Given the description of an element on the screen output the (x, y) to click on. 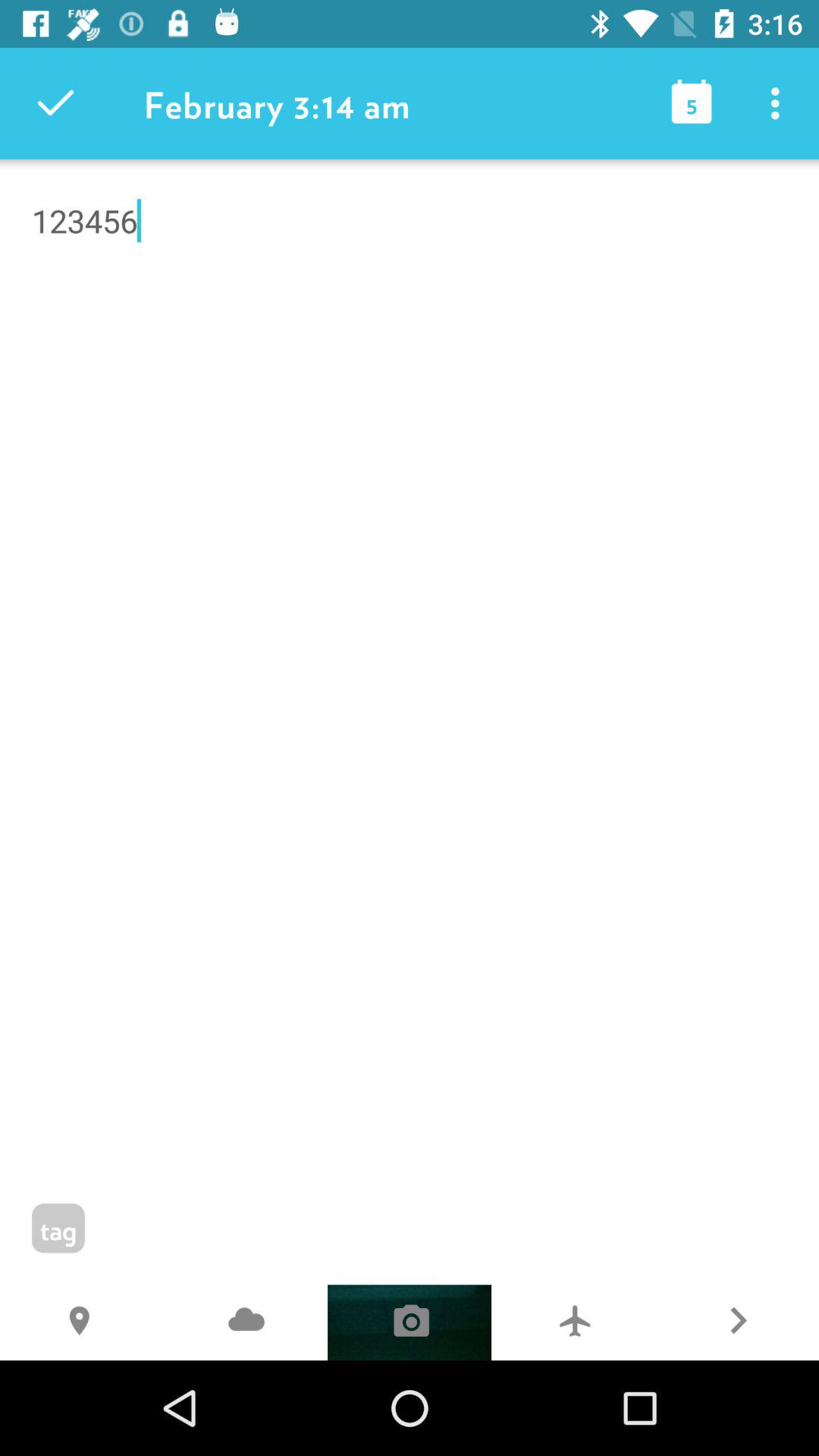
select item to the left of february 3 14 icon (55, 103)
